Given the description of an element on the screen output the (x, y) to click on. 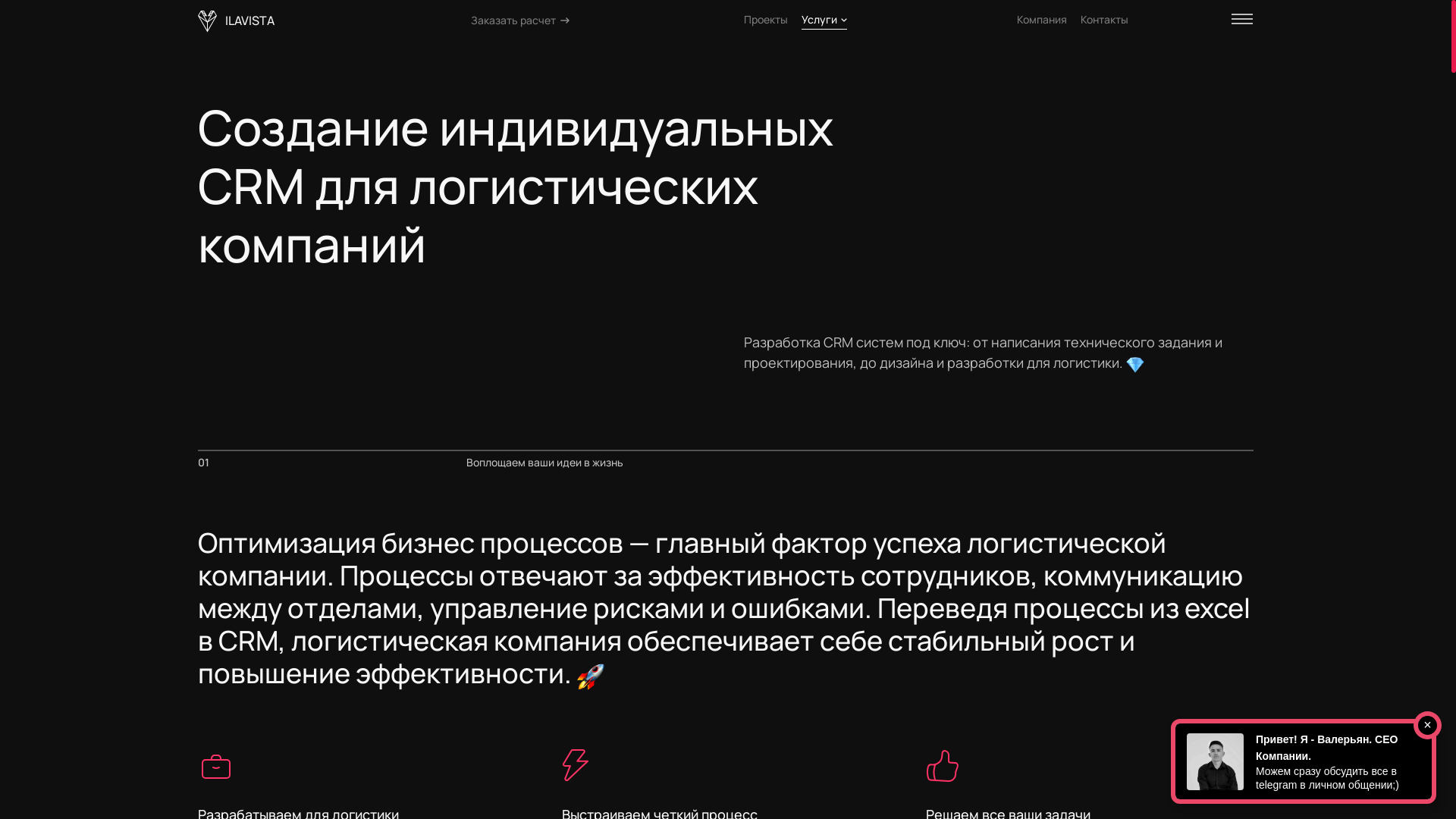
ILAVISTA Element type: text (235, 21)
